Given the description of an element on the screen output the (x, y) to click on. 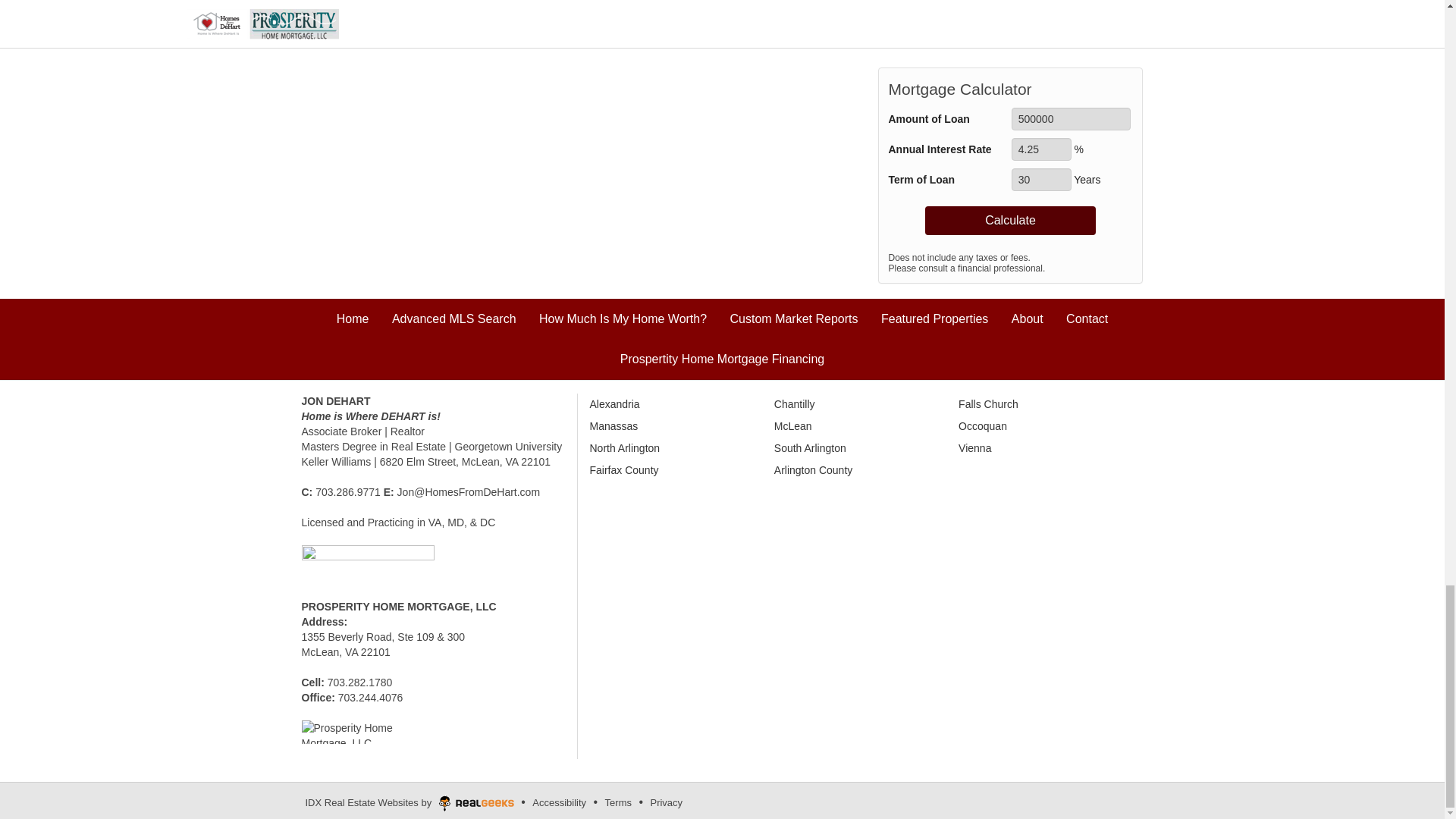
500000 (1071, 118)
4.25 (1041, 149)
30 (1041, 179)
Prosperity Home Mortgage LLC (354, 730)
